Given the description of an element on the screen output the (x, y) to click on. 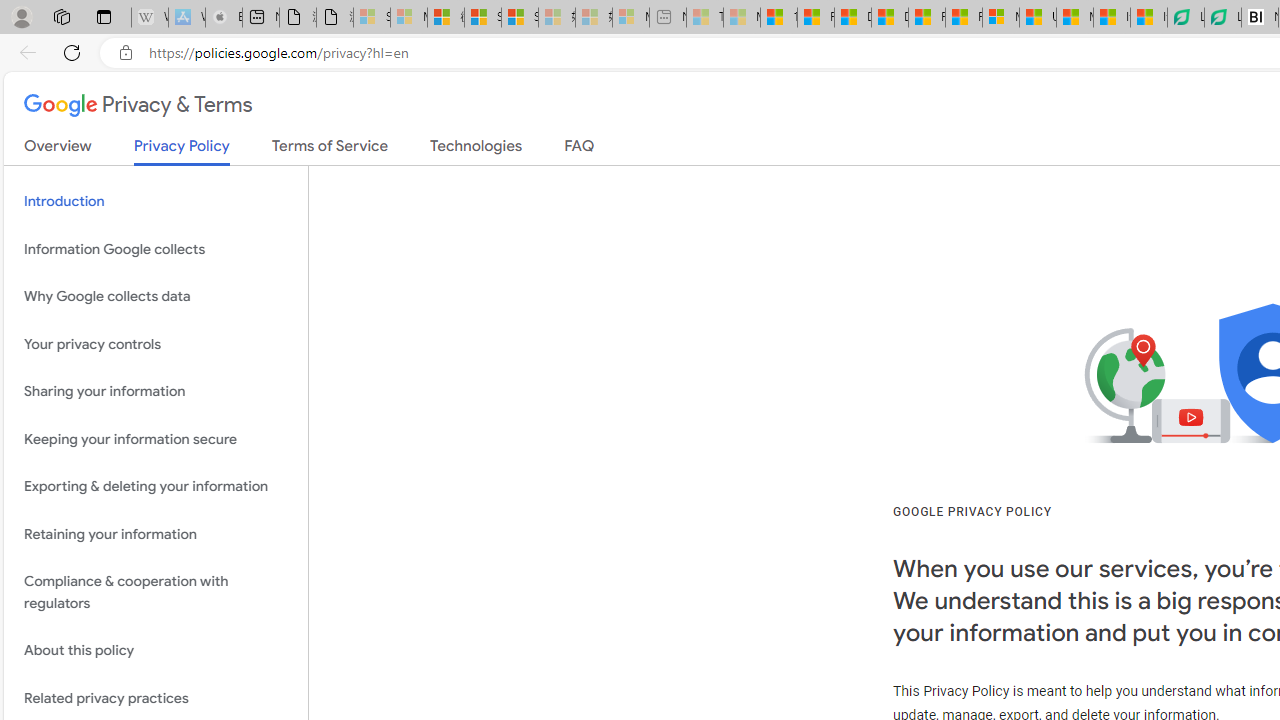
Wikipedia - Sleeping (149, 17)
About this policy (155, 651)
Exporting & deleting your information (155, 486)
Why Google collects data (155, 296)
Information Google collects (155, 249)
Microsoft account | Account Checkup - Sleeping (630, 17)
Buy iPad - Apple - Sleeping (223, 17)
Why Google collects data (155, 296)
Introduction (155, 201)
Privacy Policy (181, 151)
